Given the description of an element on the screen output the (x, y) to click on. 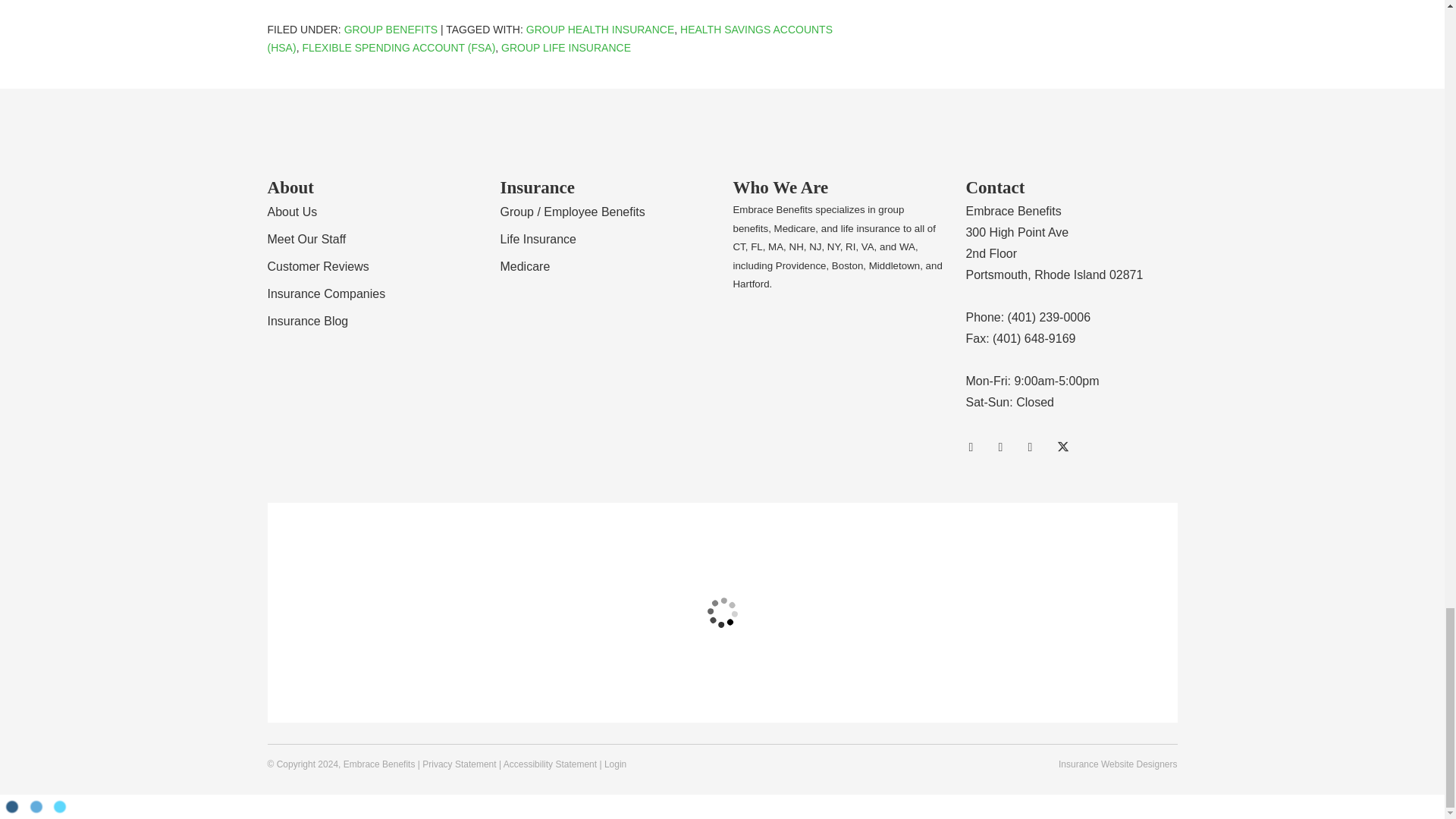
GROUP BENEFITS (390, 29)
Yelp (1006, 446)
Facebook (1036, 446)
Google Maps (977, 446)
Group Benefits (390, 29)
Group Life Insurance (565, 47)
X (1066, 446)
Group Health Insurance (600, 29)
